Given the description of an element on the screen output the (x, y) to click on. 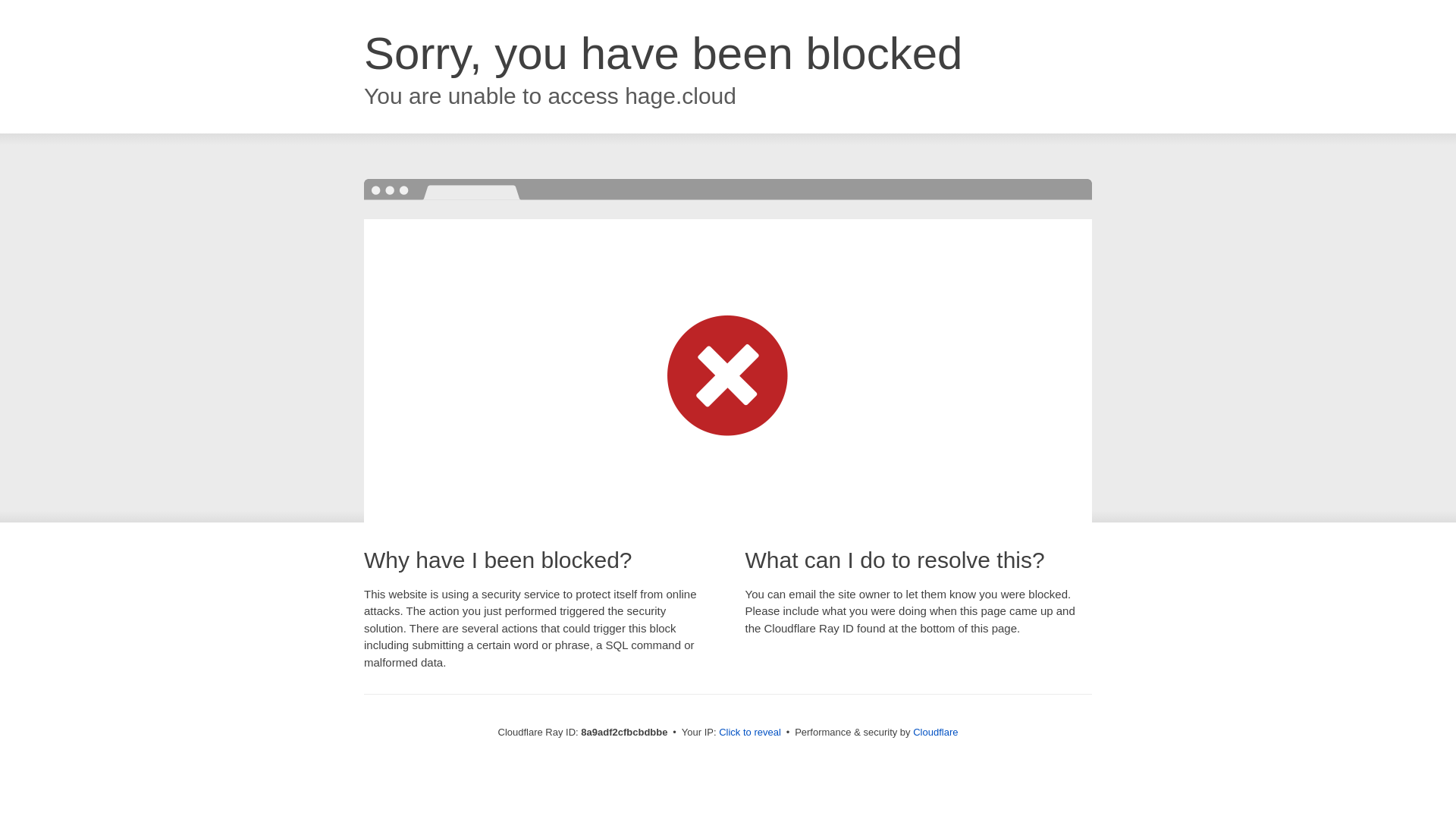
Cloudflare (935, 731)
Click to reveal (749, 732)
